Given the description of an element on the screen output the (x, y) to click on. 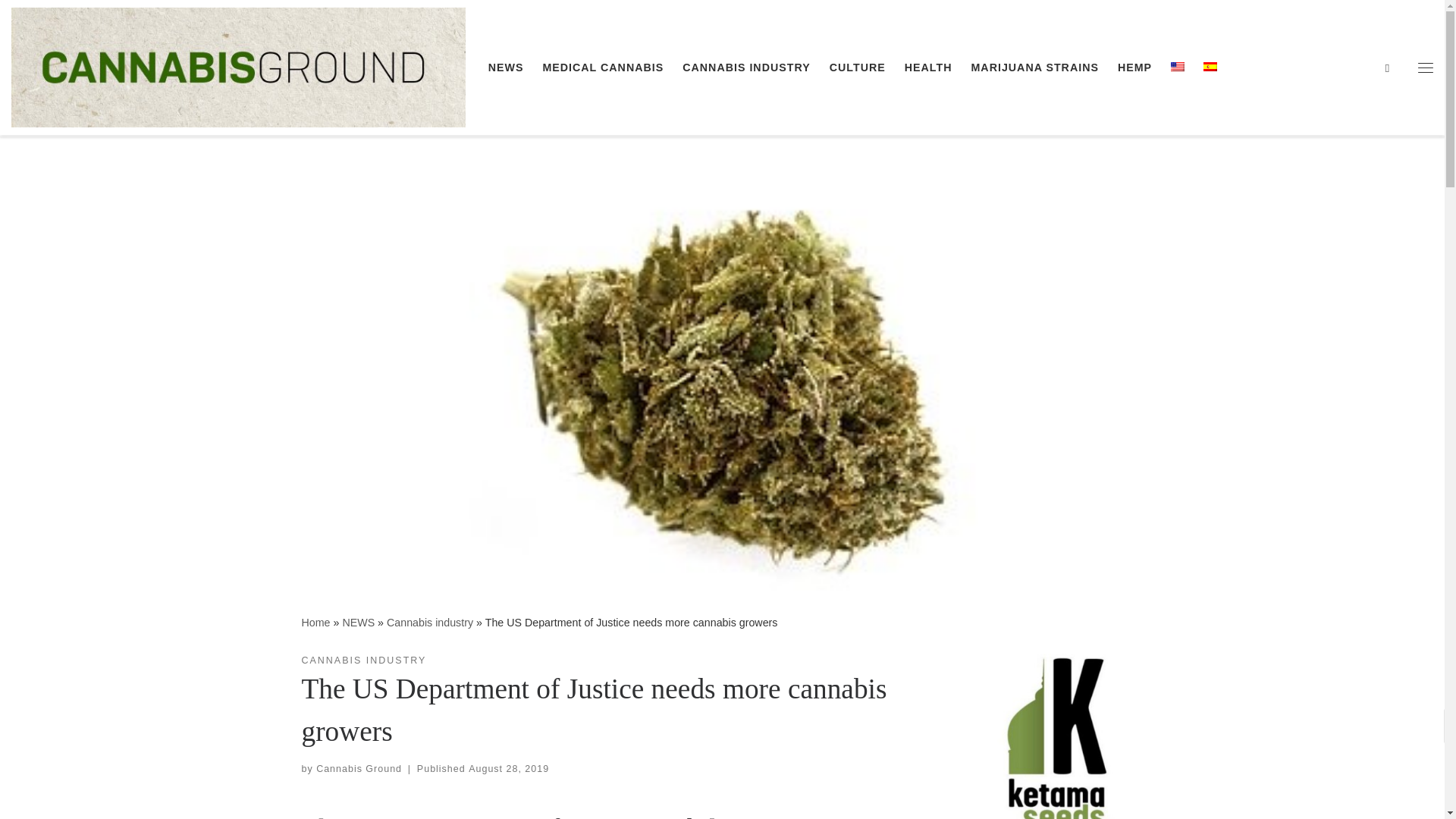
Skip to content (60, 20)
20:21 (508, 768)
Cannabis Ground (315, 622)
View all posts in Cannabis industry (363, 660)
Home (315, 622)
Cannabis industry (430, 622)
CULTURE (856, 67)
CANNABIS INDUSTRY (746, 67)
HEMP (1135, 67)
MEDICAL CANNABIS (602, 67)
NEWS (358, 622)
HEALTH (927, 67)
NEWS (358, 622)
View all posts by Cannabis Ground (358, 768)
CANNABIS INDUSTRY (363, 660)
